Given the description of an element on the screen output the (x, y) to click on. 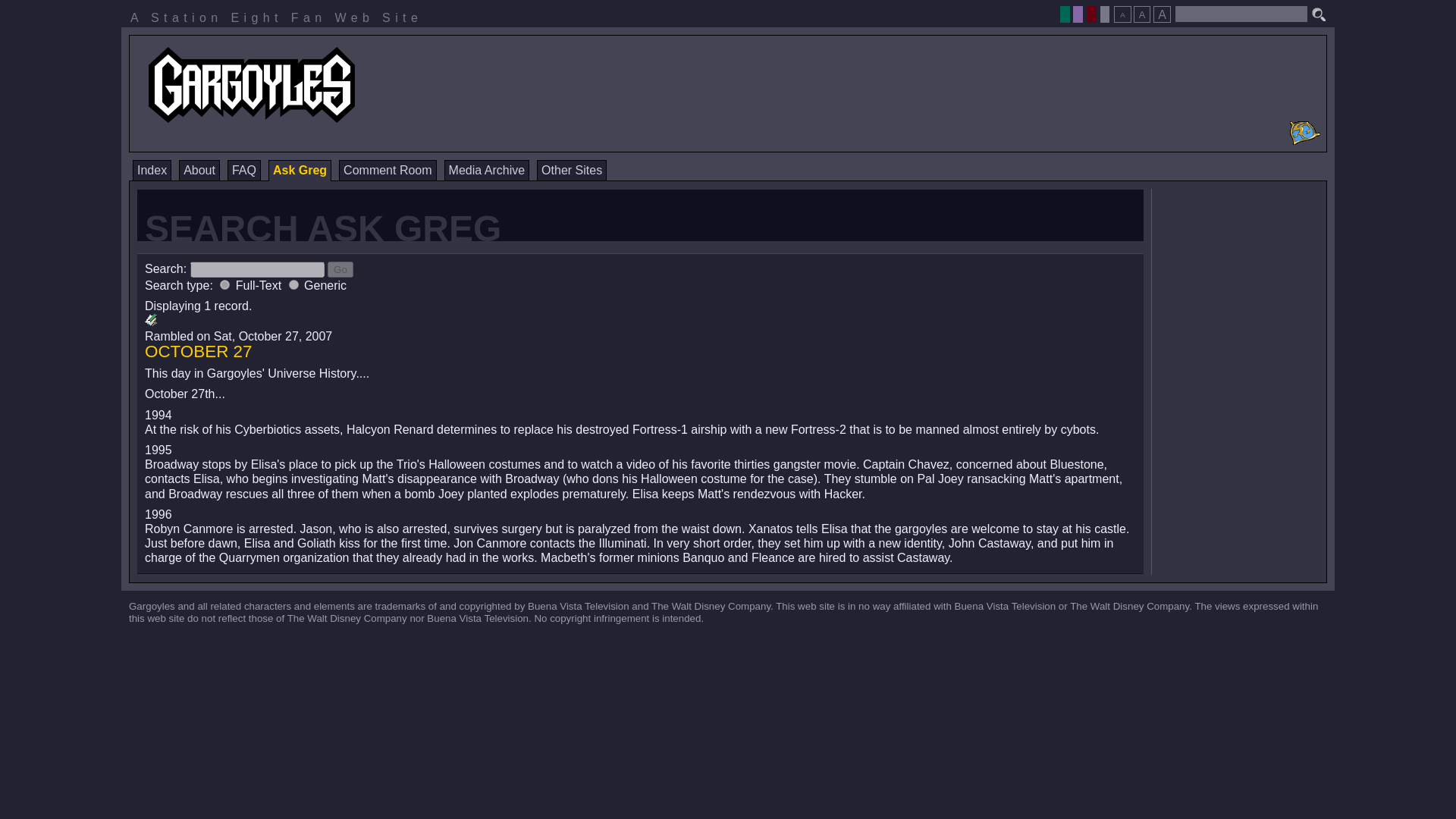
A (1161, 13)
Large Font Size (1161, 13)
FAQ (243, 169)
Comment Room (387, 169)
Ask Greg (299, 169)
FullText (224, 284)
Index (151, 169)
A (1122, 13)
Go (340, 269)
Select the font size the best suits your needs. (1141, 9)
